Given the description of an element on the screen output the (x, y) to click on. 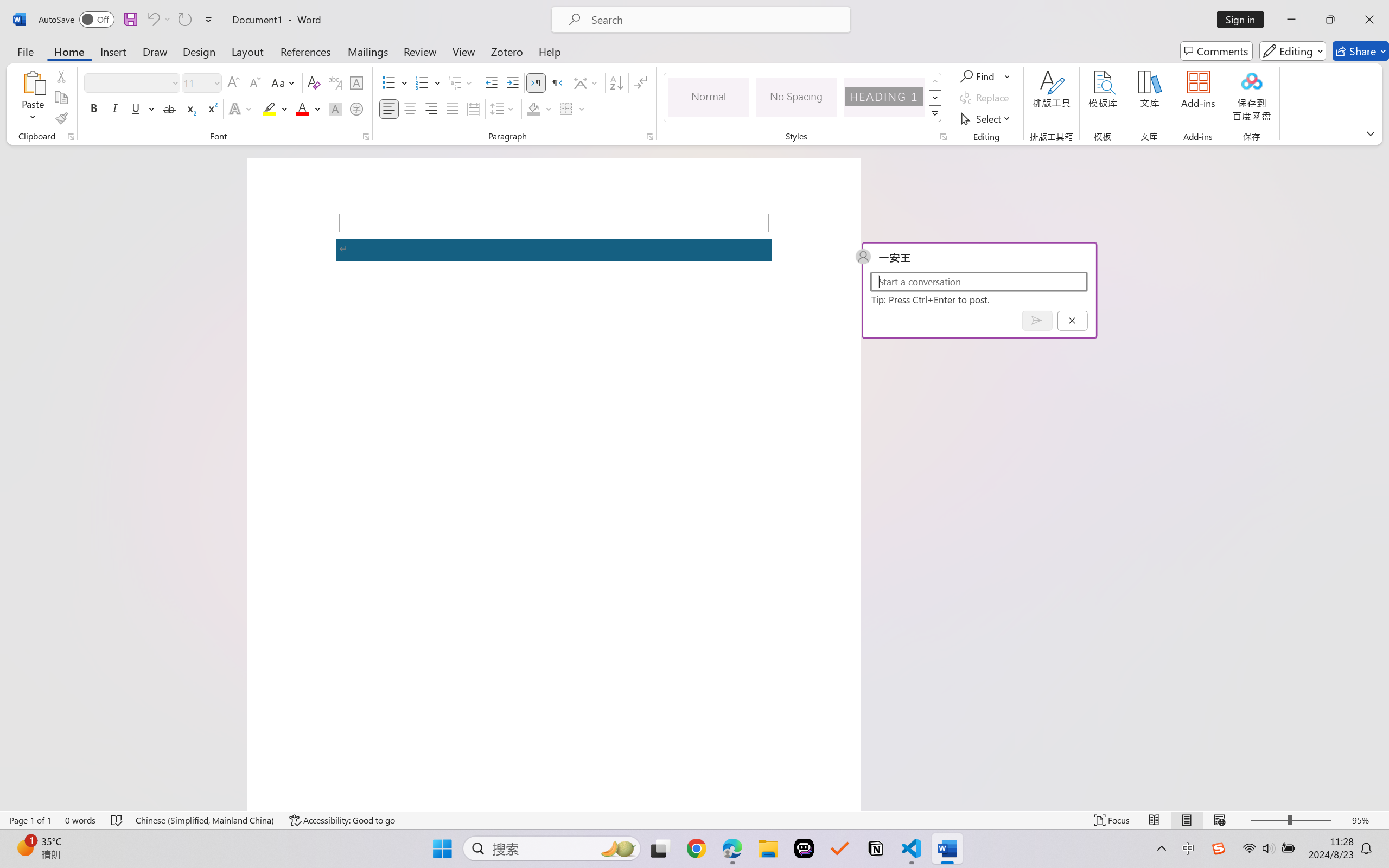
Post comment (Ctrl + Enter) (1036, 320)
Language Chinese (Simplified, Mainland China) (205, 819)
Editing (1292, 50)
